Given the description of an element on the screen output the (x, y) to click on. 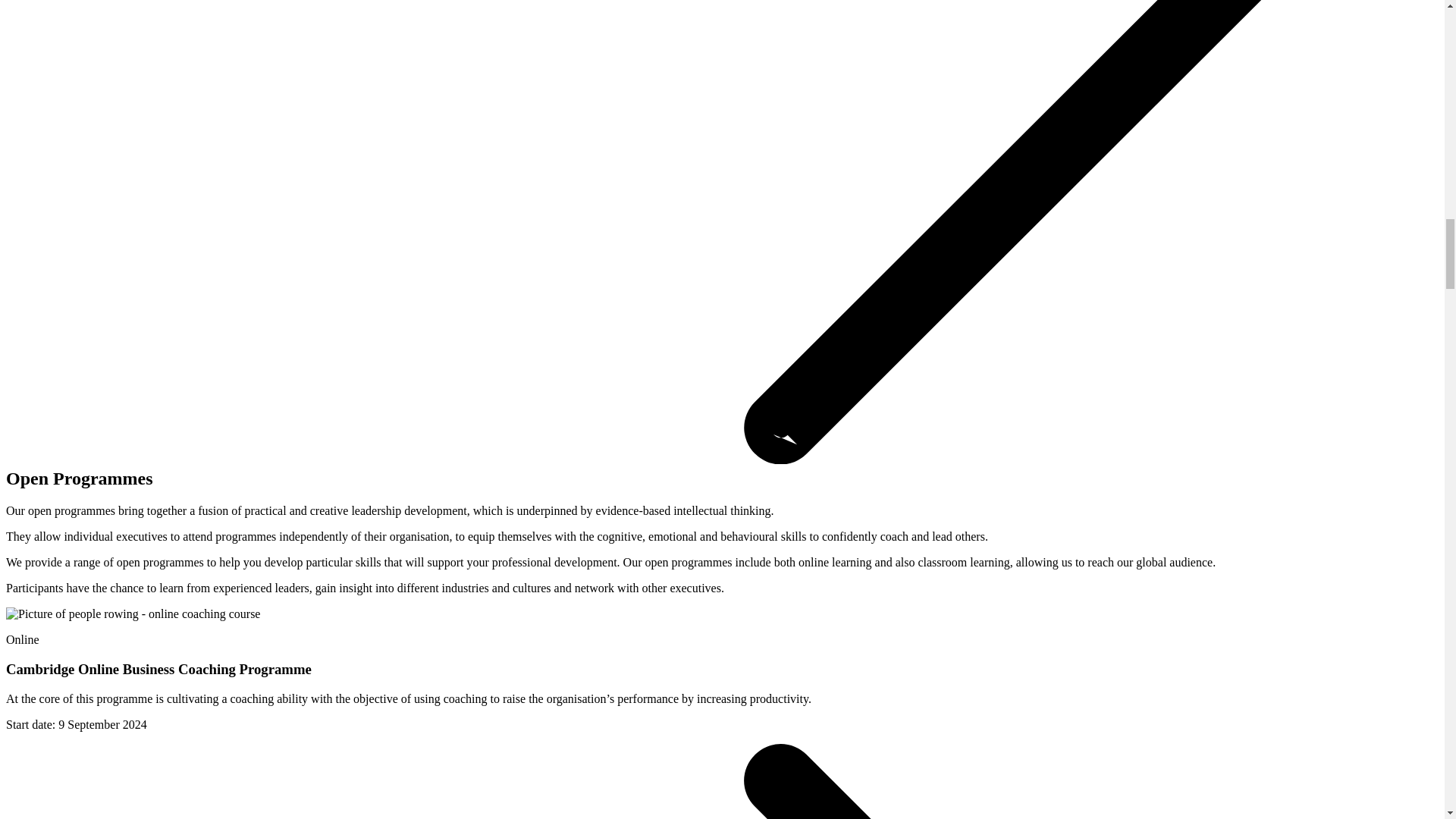
Online coaching (132, 613)
